Given the description of an element on the screen output the (x, y) to click on. 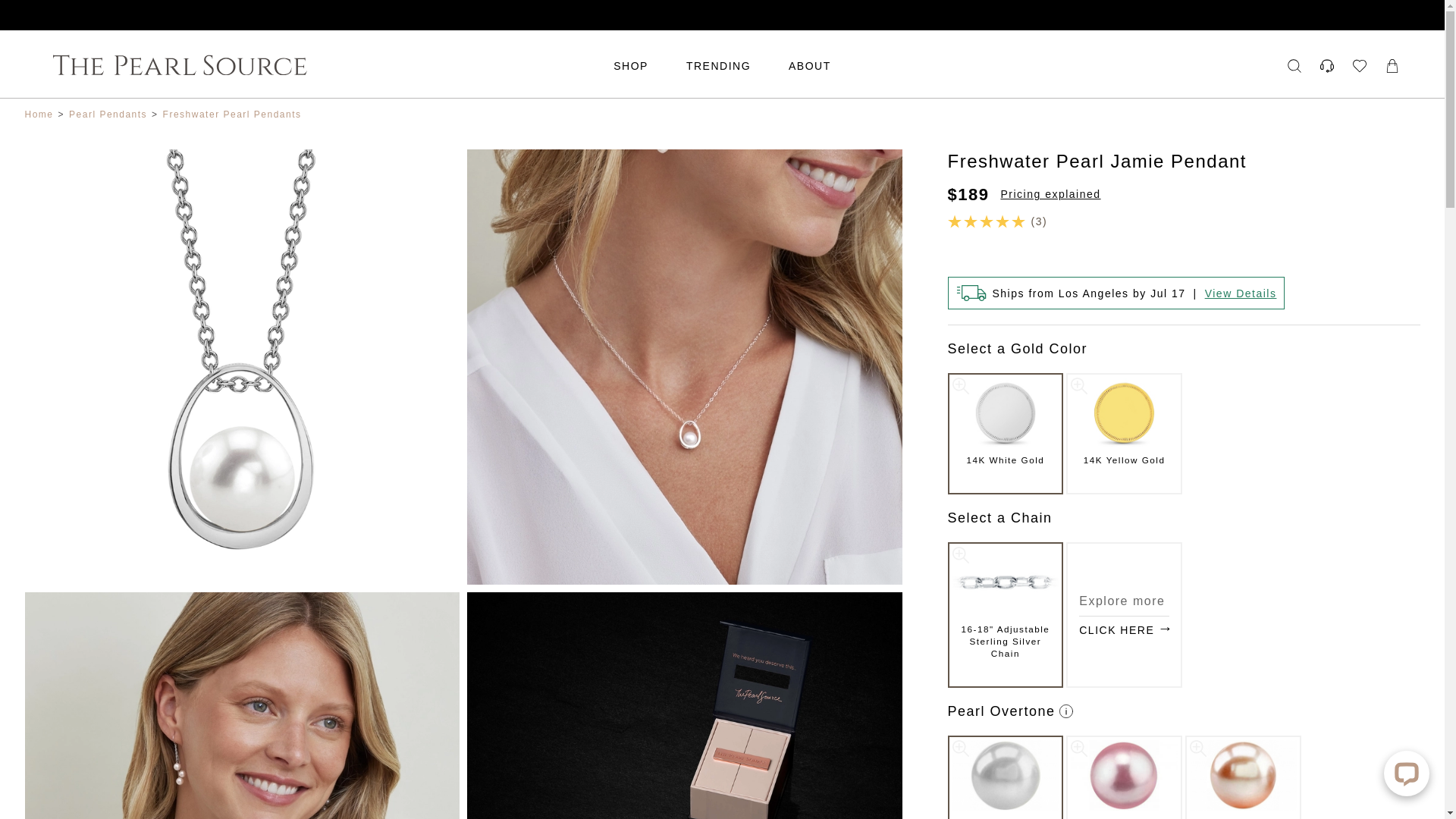
Site logo (328, 65)
Cart (1392, 65)
Search (1294, 65)
